Given the description of an element on the screen output the (x, y) to click on. 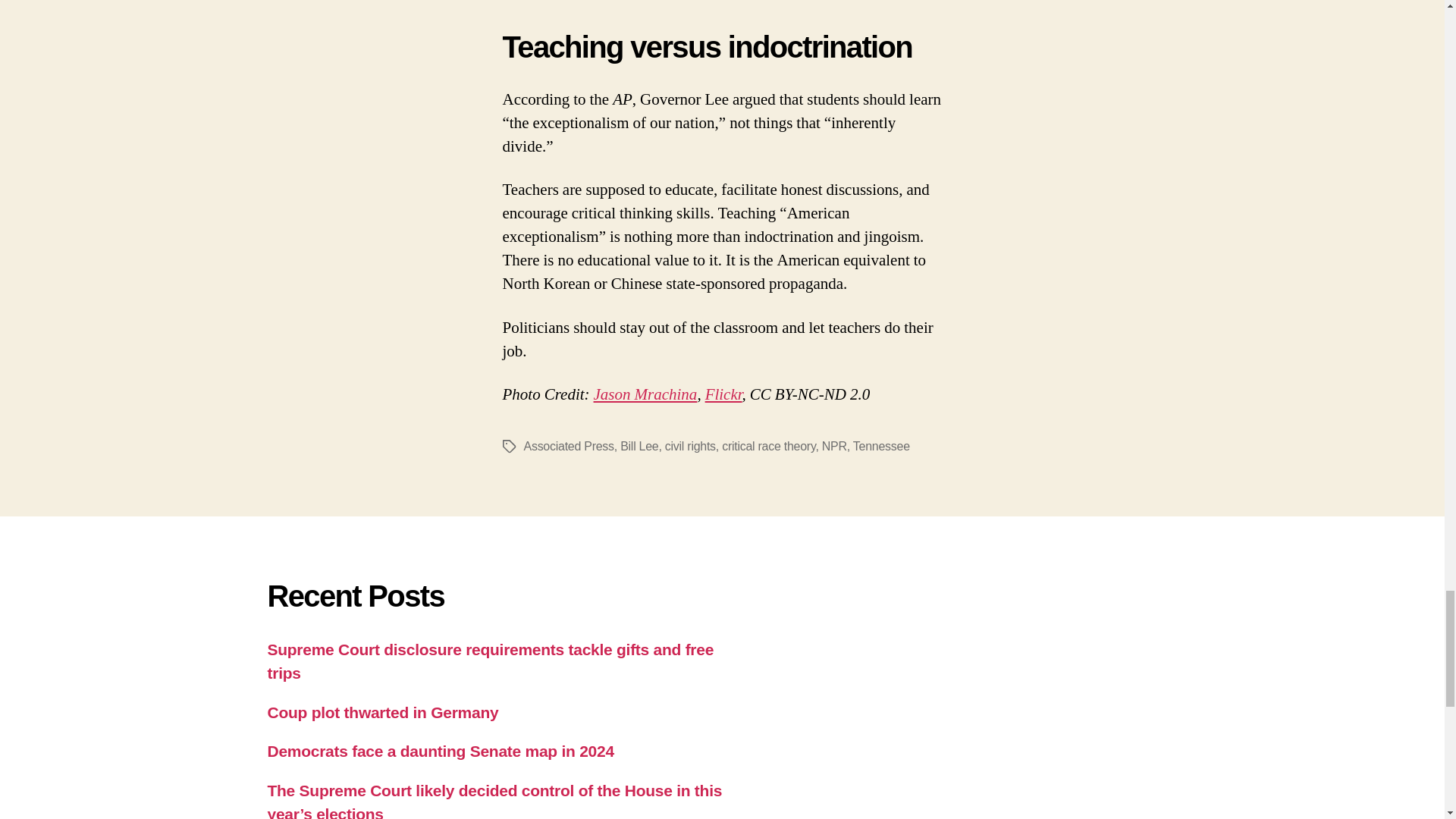
Associated Press (567, 445)
critical race theory (768, 445)
Tennessee (881, 445)
civil rights (690, 445)
Democrats face a daunting Senate map in 2024 (439, 751)
Coup plot thwarted in Germany (381, 712)
Flickr (723, 394)
Jason Mrachina (645, 394)
NPR (834, 445)
Bill Lee (639, 445)
